Given the description of an element on the screen output the (x, y) to click on. 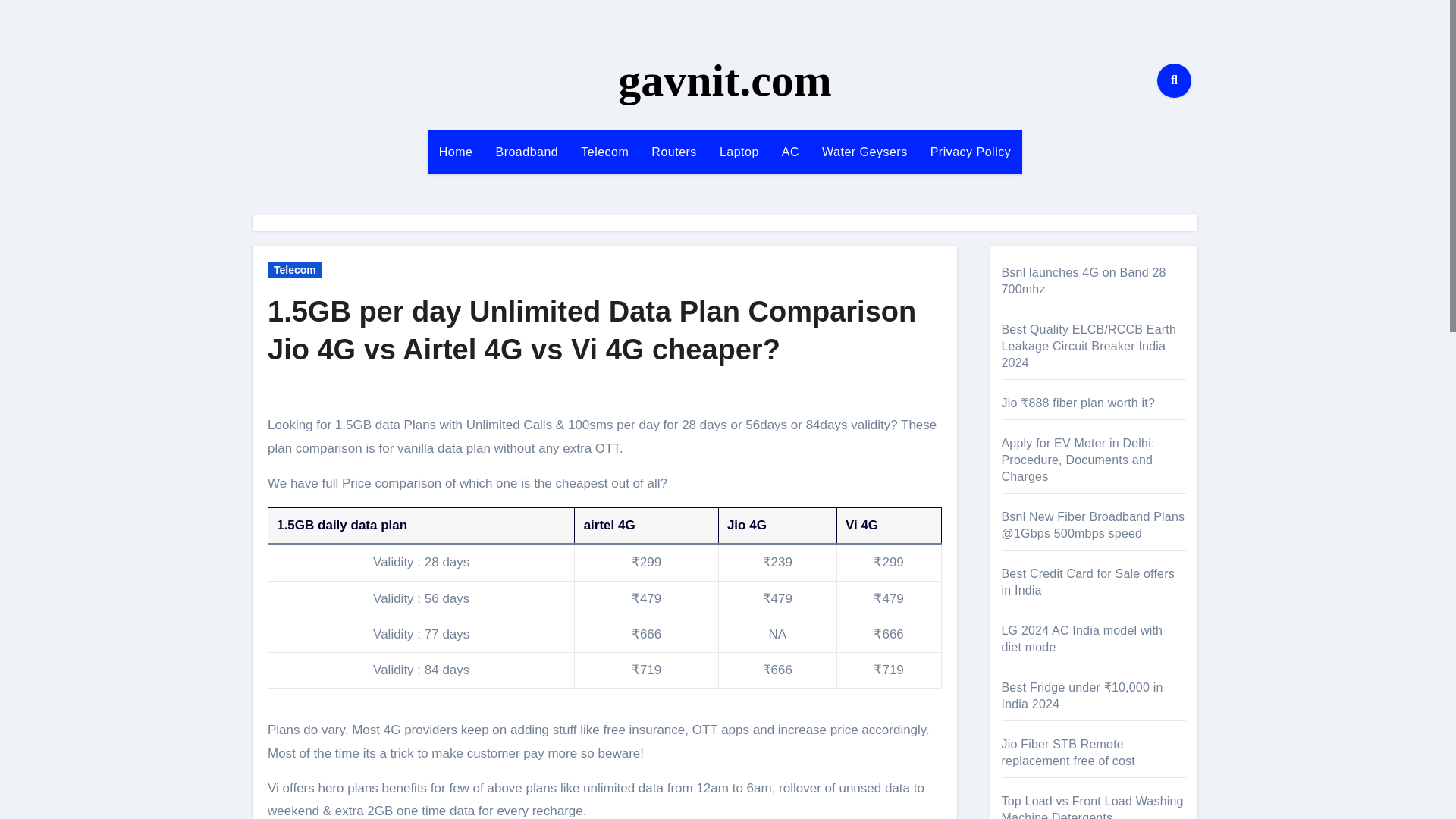
Home (456, 152)
Laptop (738, 152)
AC (790, 152)
Privacy Policy (970, 152)
Best Credit Card for Sale offers in India (1087, 582)
gavnit.com (724, 80)
LG 2024 AC India model with diet mode (1081, 638)
Privacy Policy (970, 152)
